Given the description of an element on the screen output the (x, y) to click on. 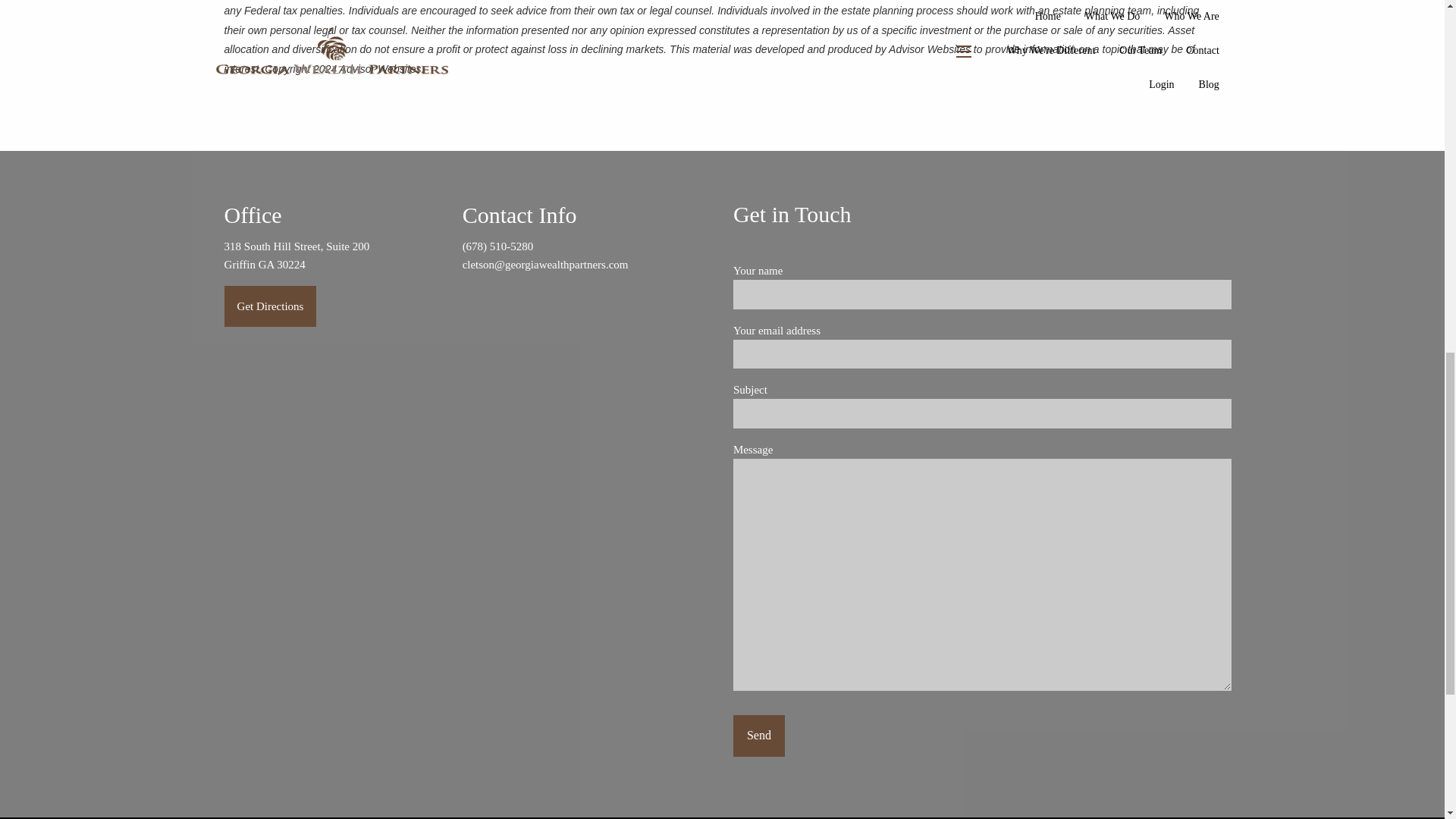
Get Directions (270, 305)
Send (758, 735)
Google Maps Directions (270, 305)
Send (758, 735)
